Given the description of an element on the screen output the (x, y) to click on. 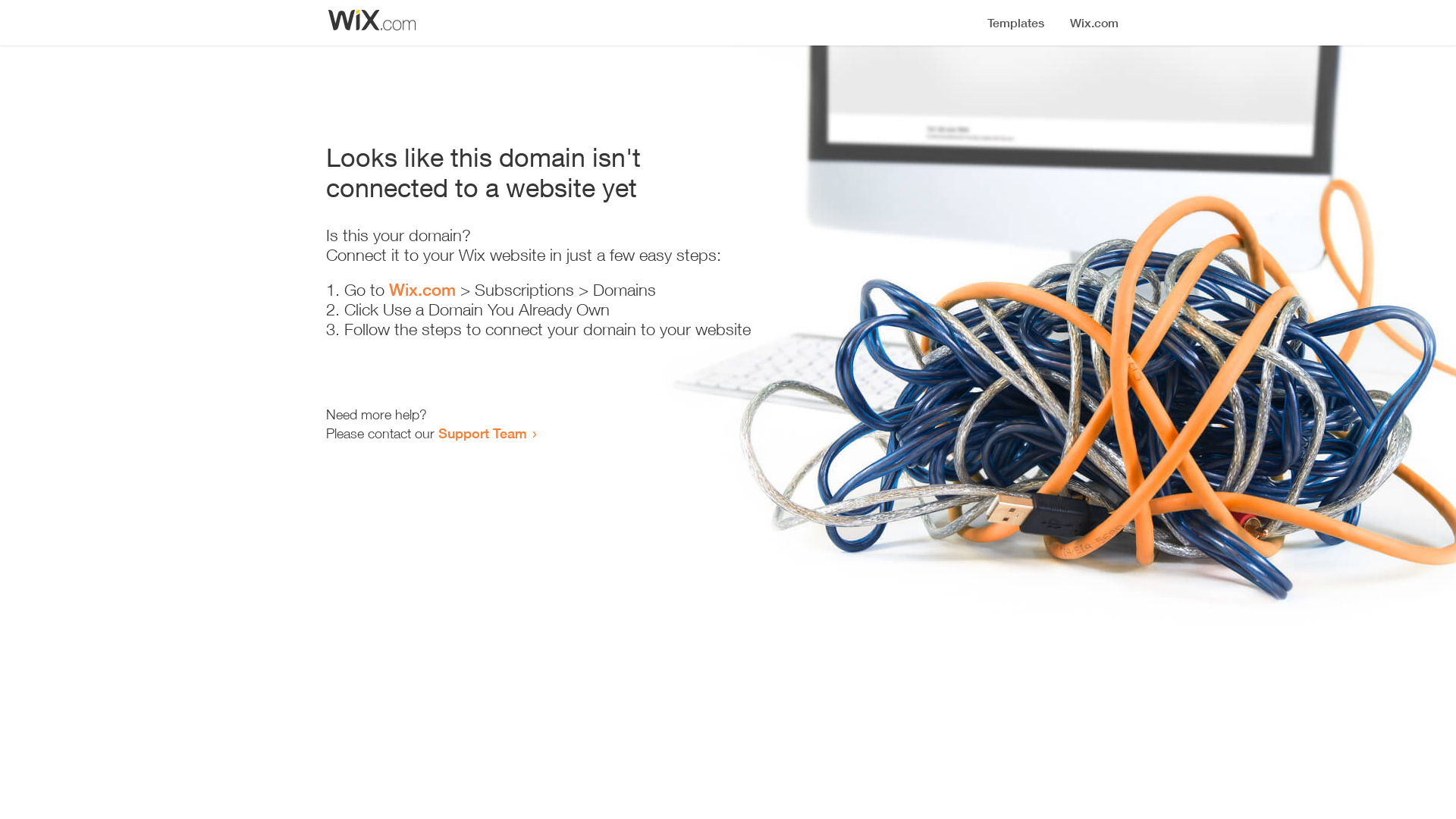
Wix.com Element type: text (422, 289)
Support Team Element type: text (482, 432)
